Given the description of an element on the screen output the (x, y) to click on. 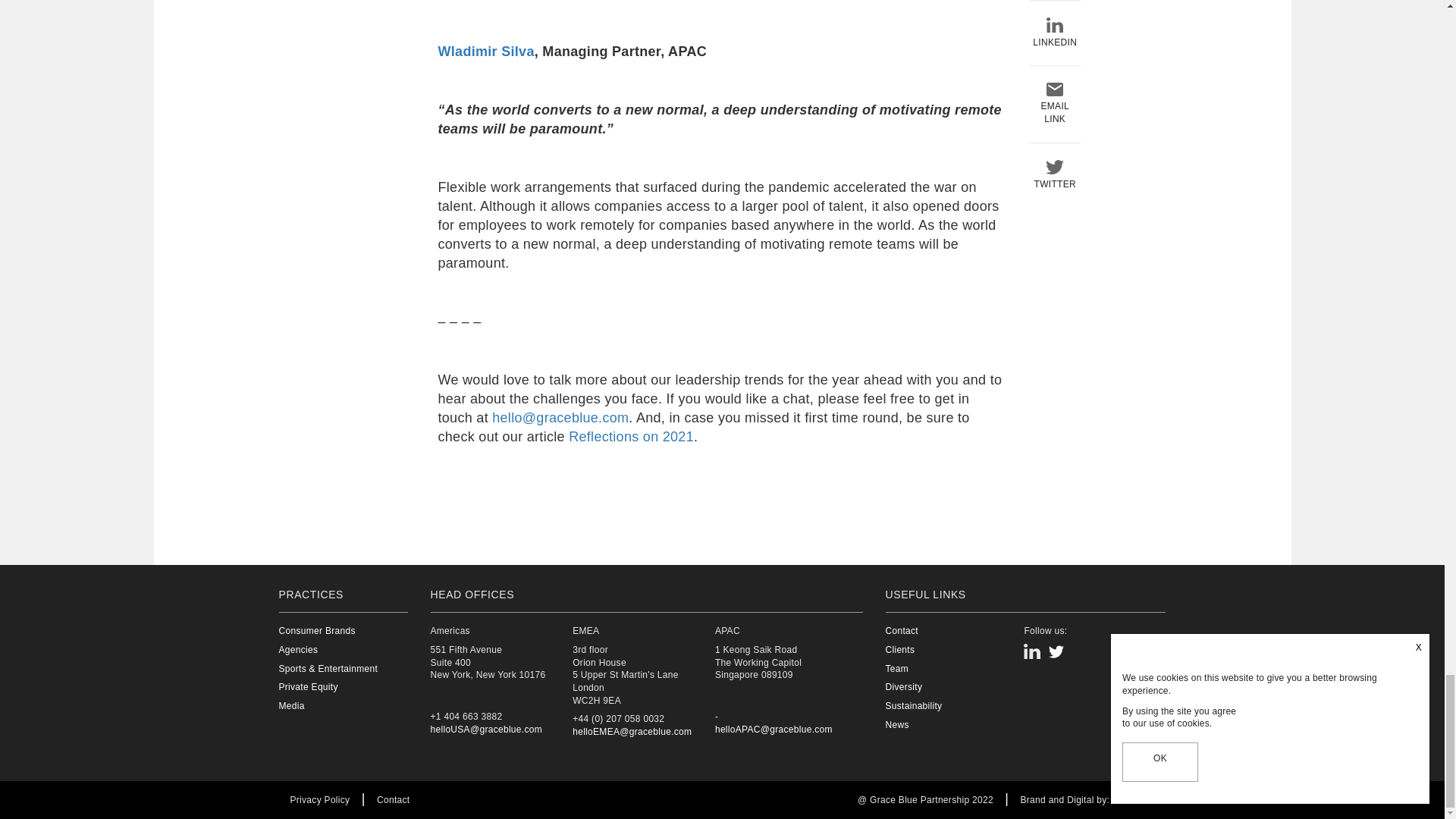
Reflections on 2021 (631, 436)
Wladimir Silva (486, 51)
Diversity (952, 686)
Consumer Brands (328, 631)
Team (952, 668)
News (952, 725)
Private Equity (328, 686)
Agencies (328, 649)
Contact (952, 631)
Clients (952, 649)
Sustainability (952, 706)
Media (328, 706)
